Given the description of an element on the screen output the (x, y) to click on. 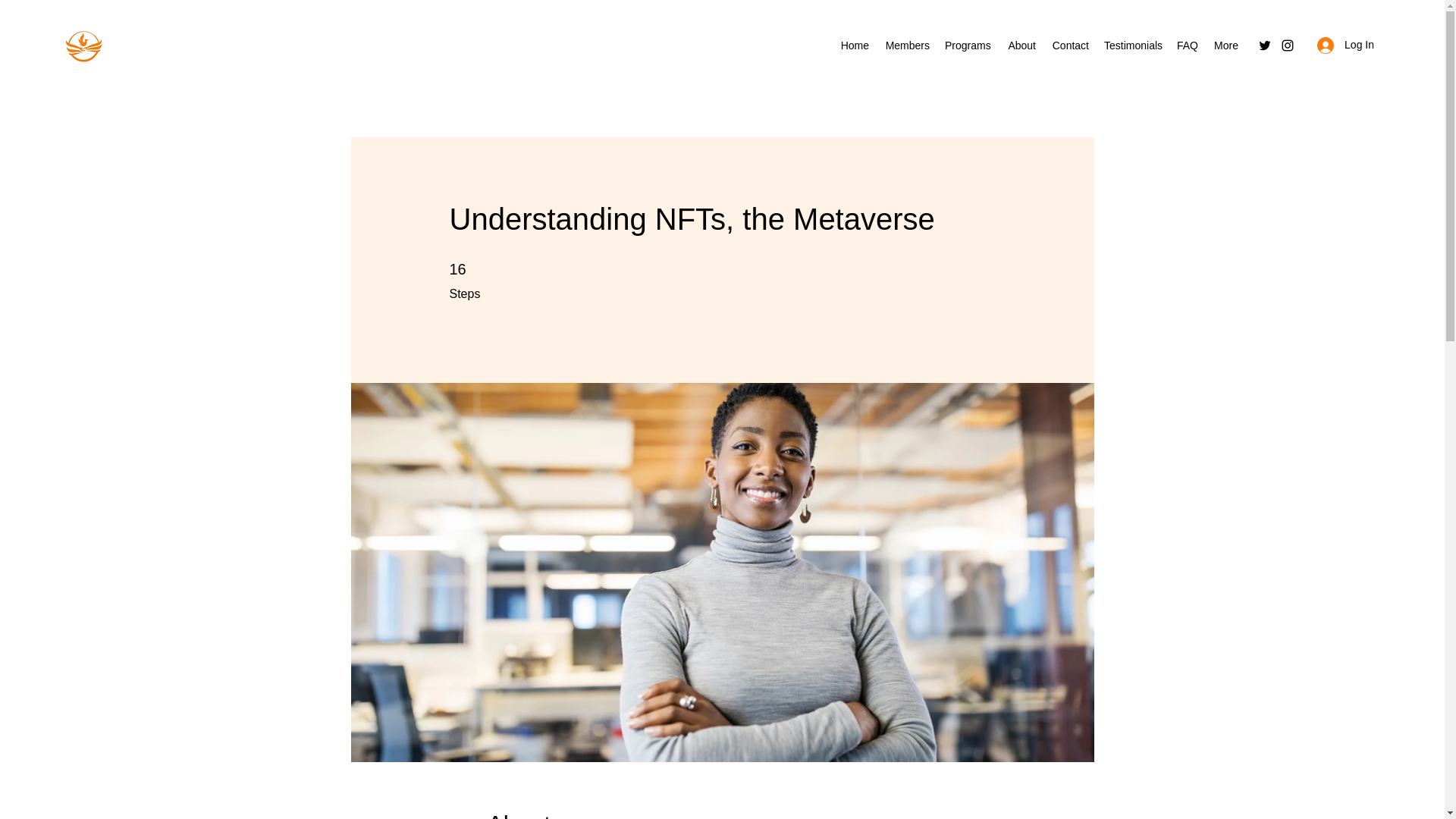
About (1020, 45)
Contact (1069, 45)
Members (906, 45)
Log In (1345, 44)
FAQ (1187, 45)
Home (854, 45)
Programs (967, 45)
Testimonials (1132, 45)
